Given the description of an element on the screen output the (x, y) to click on. 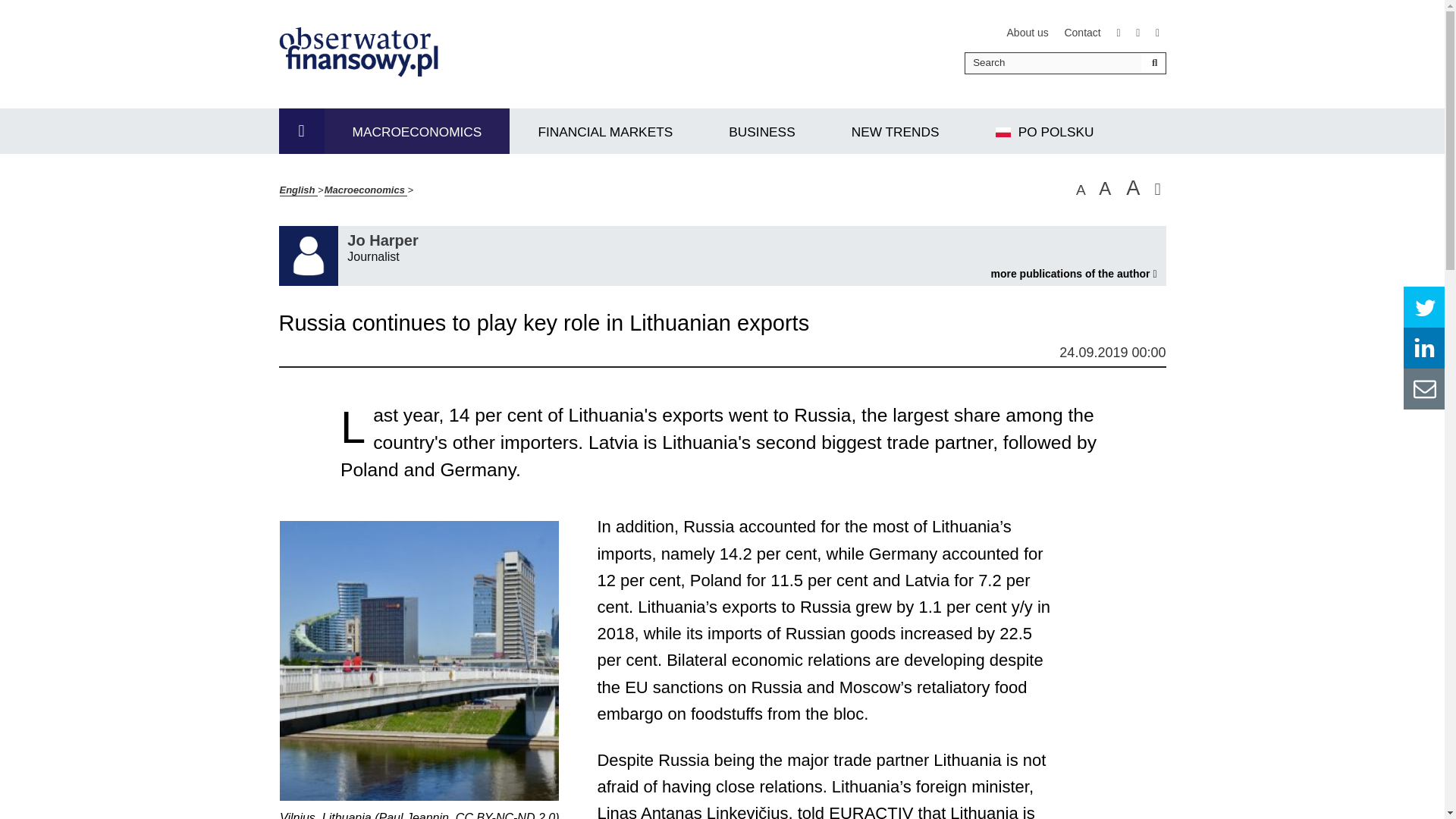
FINANCIAL MARKETS (604, 130)
Contact (1082, 32)
English (298, 190)
PO POLSKU (1045, 130)
Change font size to large (1132, 187)
Change font size to medium (1104, 188)
Macroeconomics (365, 190)
MACROECONOMICS (417, 130)
Jo Harper (1073, 273)
BUSINESS (383, 238)
HOME PAGE (761, 130)
About us (301, 130)
NEW TRENDS (1027, 32)
Search (896, 130)
